Given the description of an element on the screen output the (x, y) to click on. 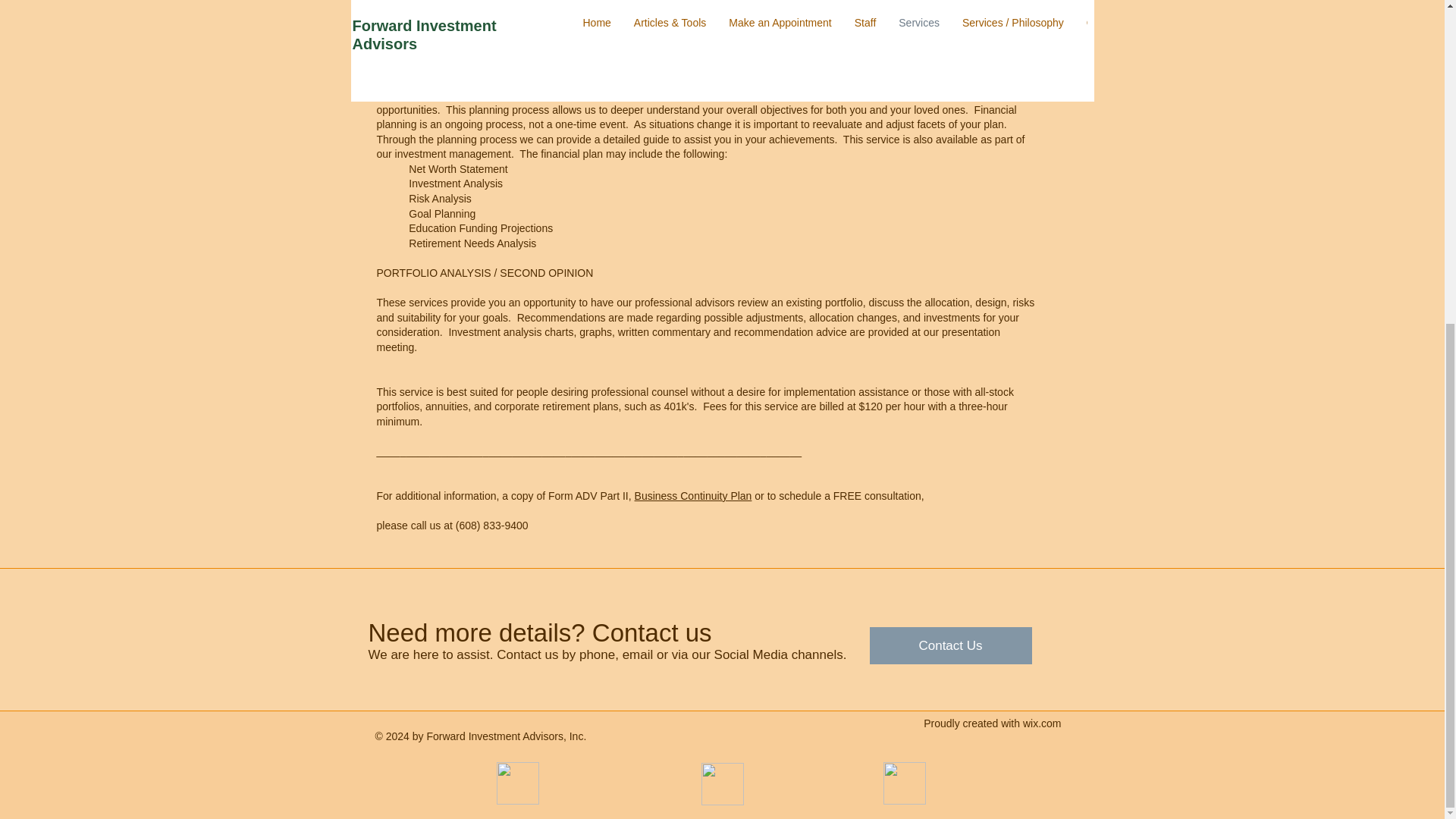
Contact Us (949, 645)
wix.com (1042, 723)
Business Continuity Plan (693, 495)
